Given the description of an element on the screen output the (x, y) to click on. 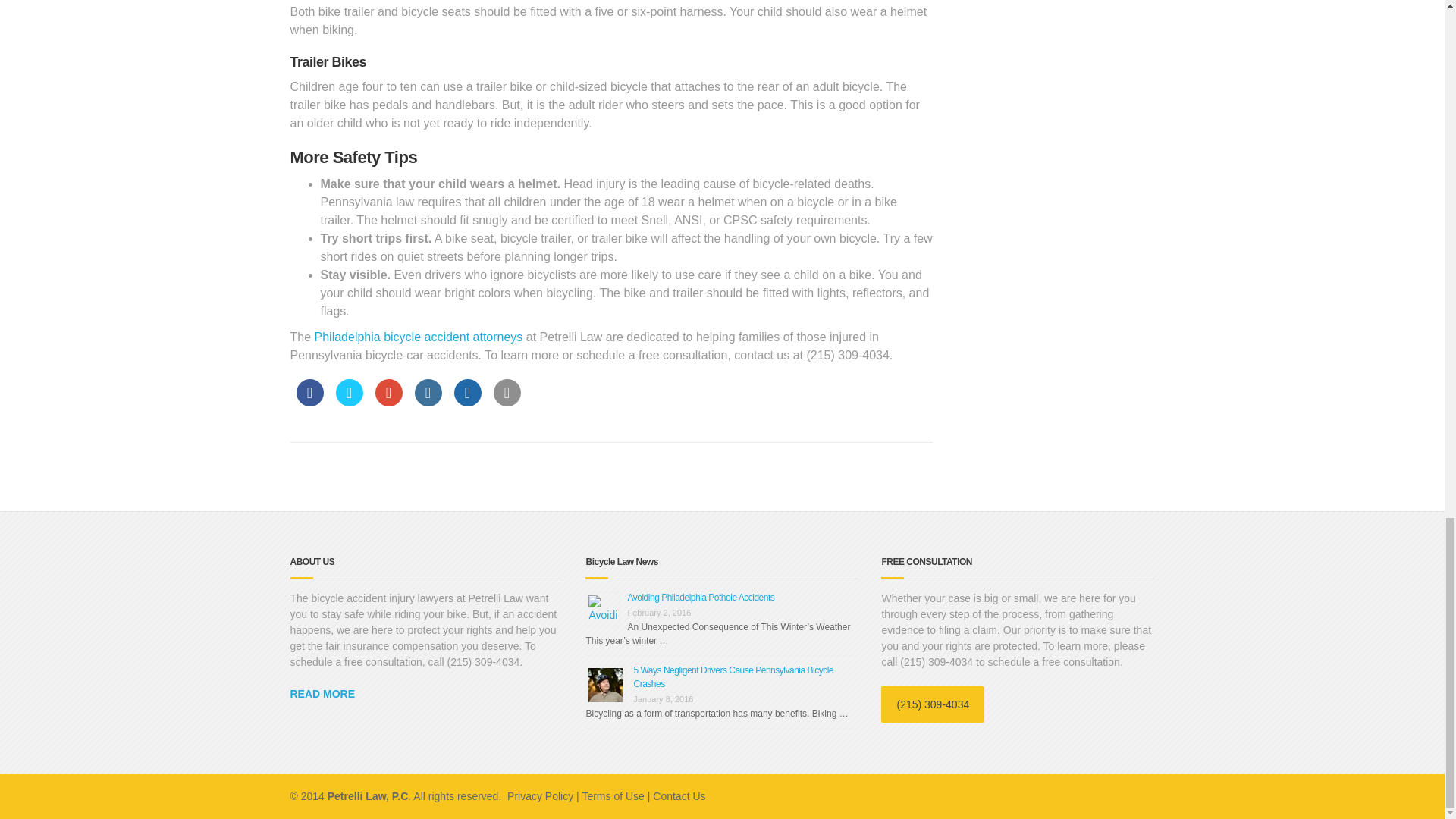
Permalink to Avoiding Philadelphia Pothole Accidents (700, 597)
Share on LinkedIn (427, 402)
Share on Google Plus (387, 402)
Share it on Email (506, 402)
Share on Digg (466, 402)
Philadelphia bicycle accident attorneys (418, 336)
Terms of Use (611, 796)
READ MORE (322, 693)
Share on Facebook (309, 402)
Share on Twitter (348, 402)
Privacy Policy (539, 796)
